Given the description of an element on the screen output the (x, y) to click on. 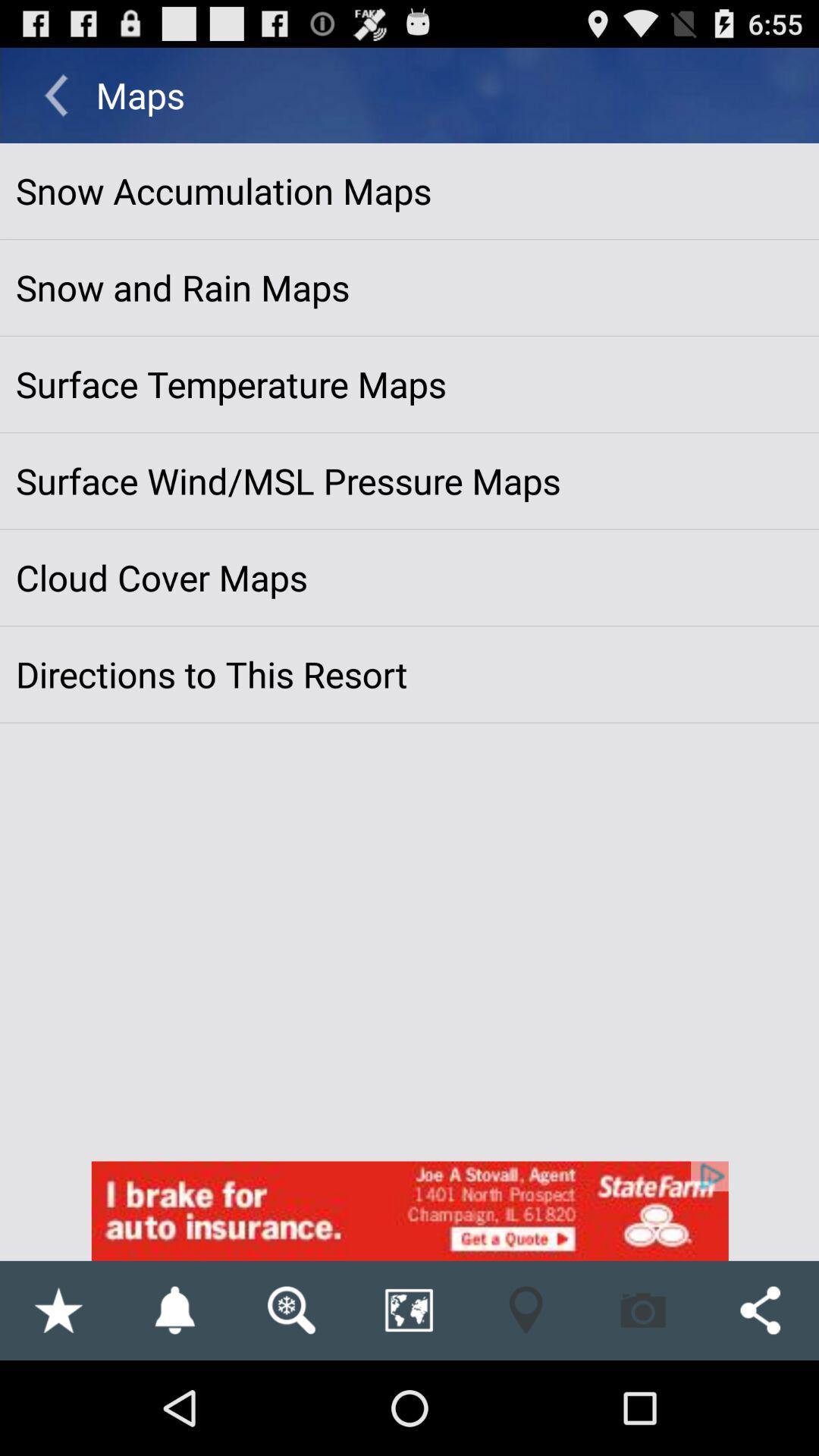
find the location (525, 1310)
